Given the description of an element on the screen output the (x, y) to click on. 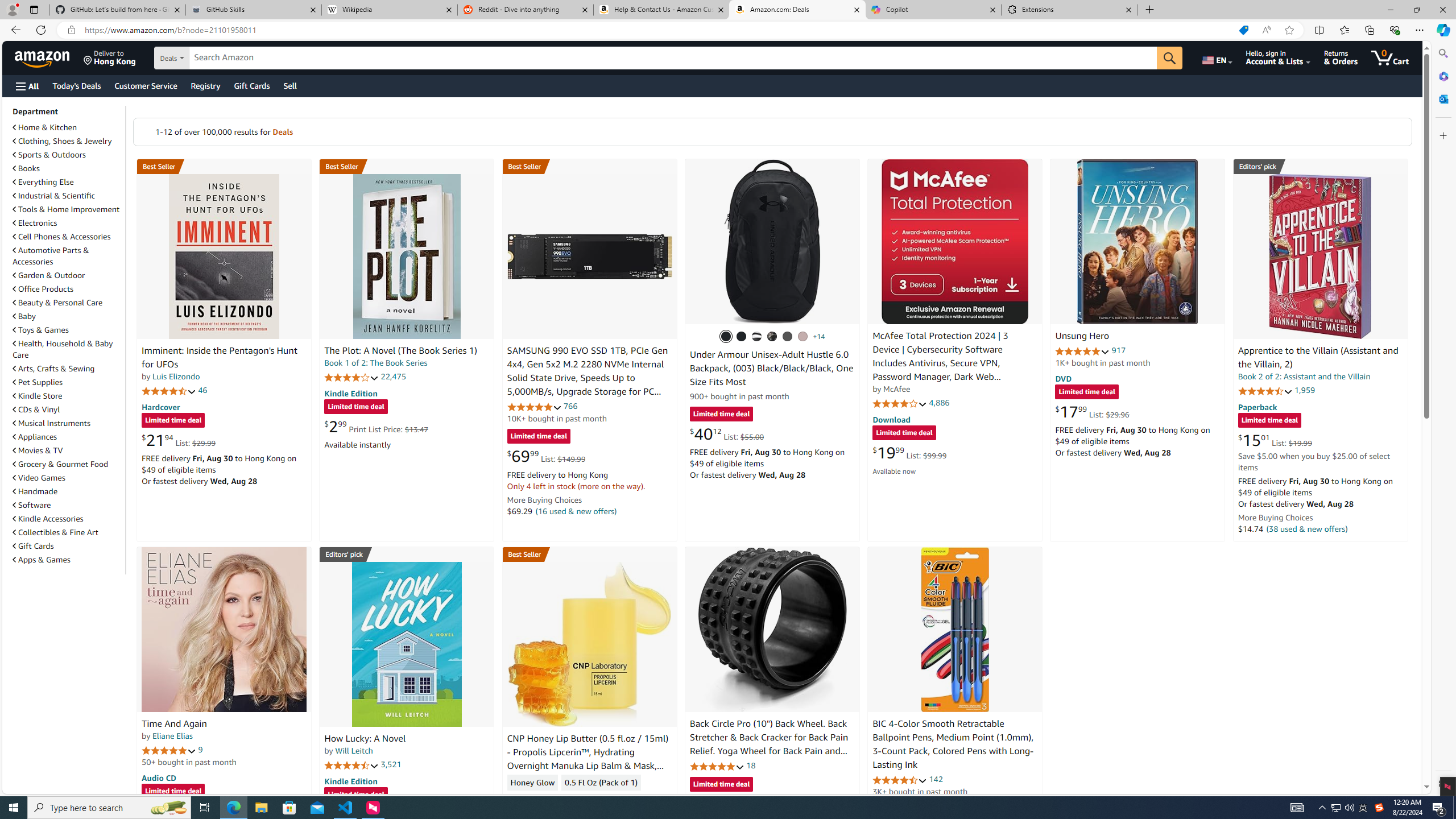
Arts, Crafts & Sewing (53, 368)
Kindle Store (67, 395)
Movies & TV (37, 450)
Arts, Crafts & Sewing (67, 368)
917 (1117, 350)
(003) Black / Black / Black (725, 336)
Appliances (34, 436)
Automotive Parts & Accessories (67, 255)
